Given the description of an element on the screen output the (x, y) to click on. 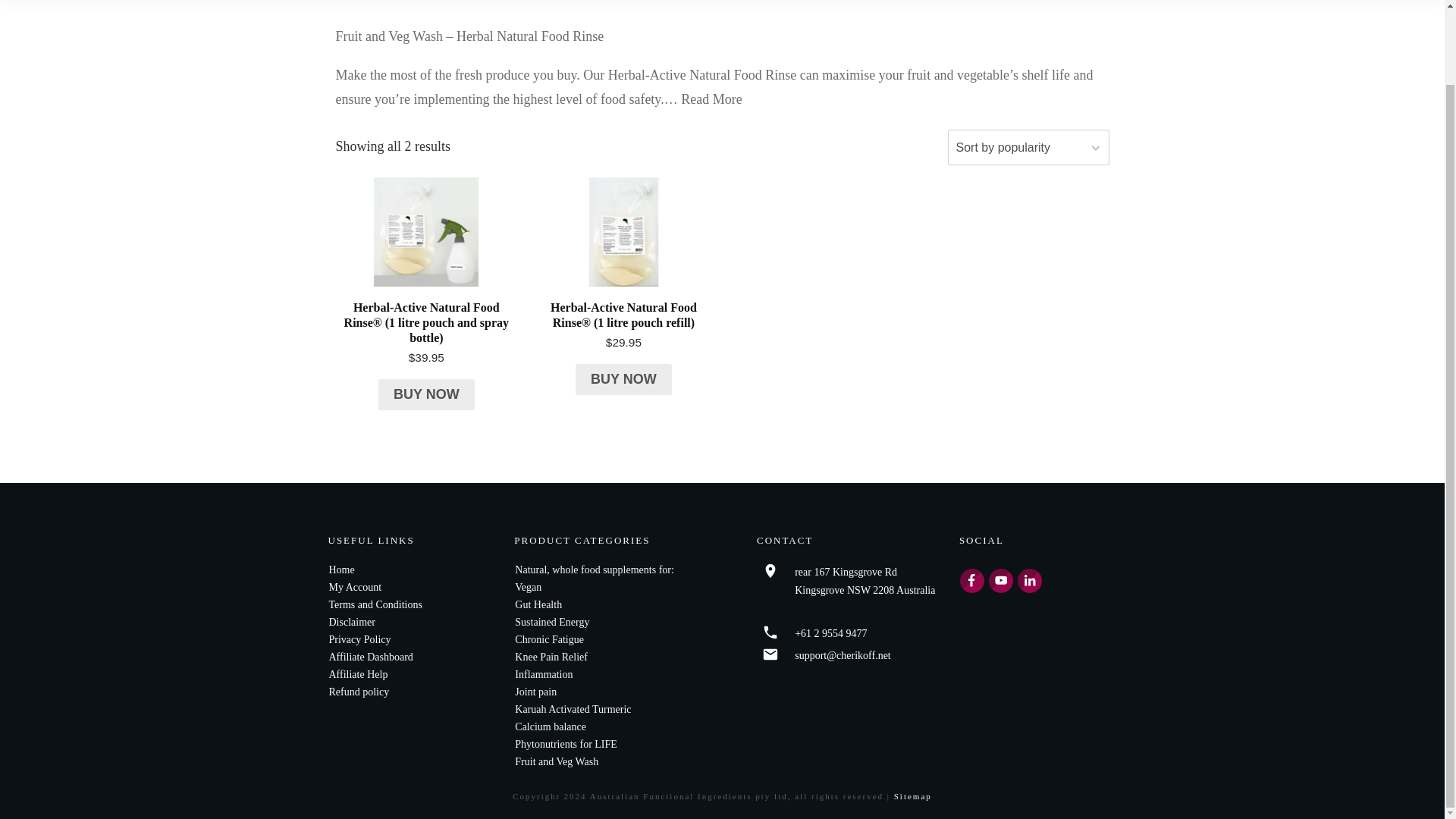
BUY NOW (426, 395)
Chronic Fatigue (549, 639)
Karuah Activated Turmeric (572, 708)
Vegan (528, 586)
Refund policy (359, 691)
My Account (355, 586)
BUY NOW (623, 379)
Joint pain  (537, 691)
Disclaimer (352, 622)
Privacy Policy (360, 639)
Sustained Energy  (553, 622)
Gut Health  (539, 604)
Inflammation (543, 674)
Terms and Conditions (375, 604)
Home (342, 569)
